Given the description of an element on the screen output the (x, y) to click on. 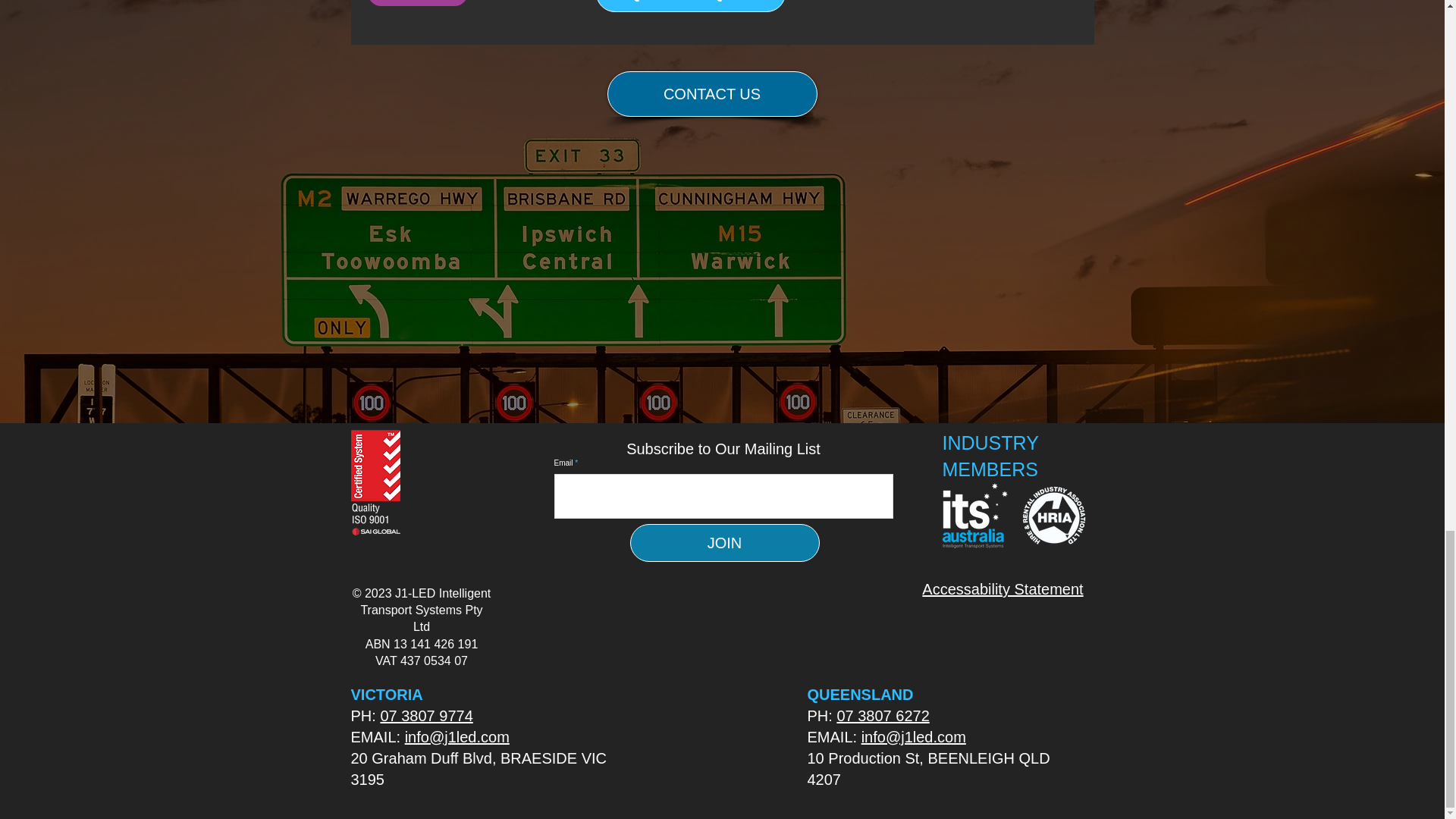
07 3807 9774 (425, 715)
CONTACT US (711, 94)
JOIN (723, 542)
Accessability Statement (1002, 588)
EMAIL: (377, 736)
REQUEST A QUOTE (690, 6)
EMAIL: (833, 736)
07 3807 6272 (881, 715)
